Given the description of an element on the screen output the (x, y) to click on. 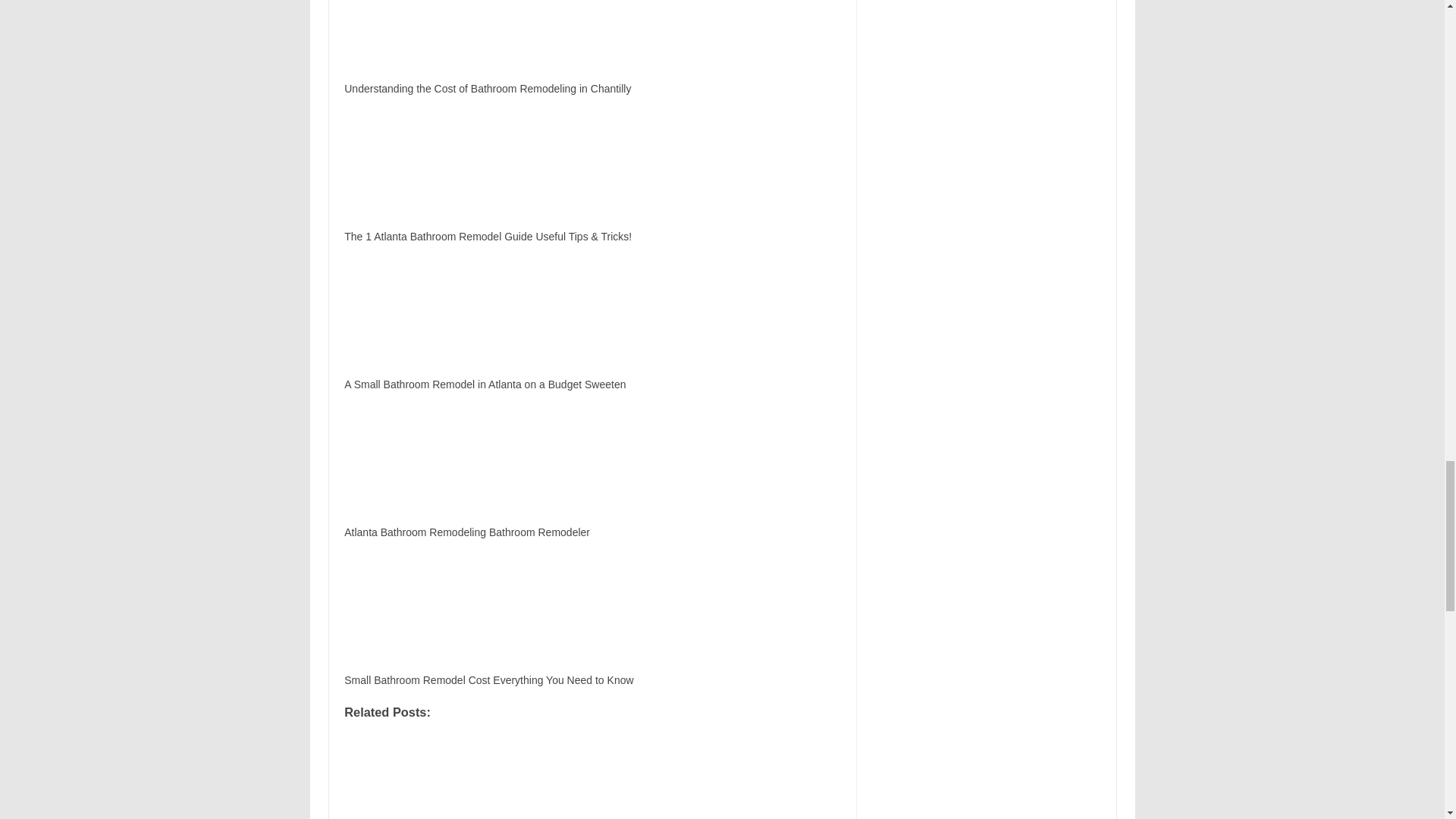
Atlanta Bathroom Remodel: Transforming Your Space (591, 777)
Atlanta Bathroom Remodel: Transforming Your Space (430, 777)
